Given the description of an element on the screen output the (x, y) to click on. 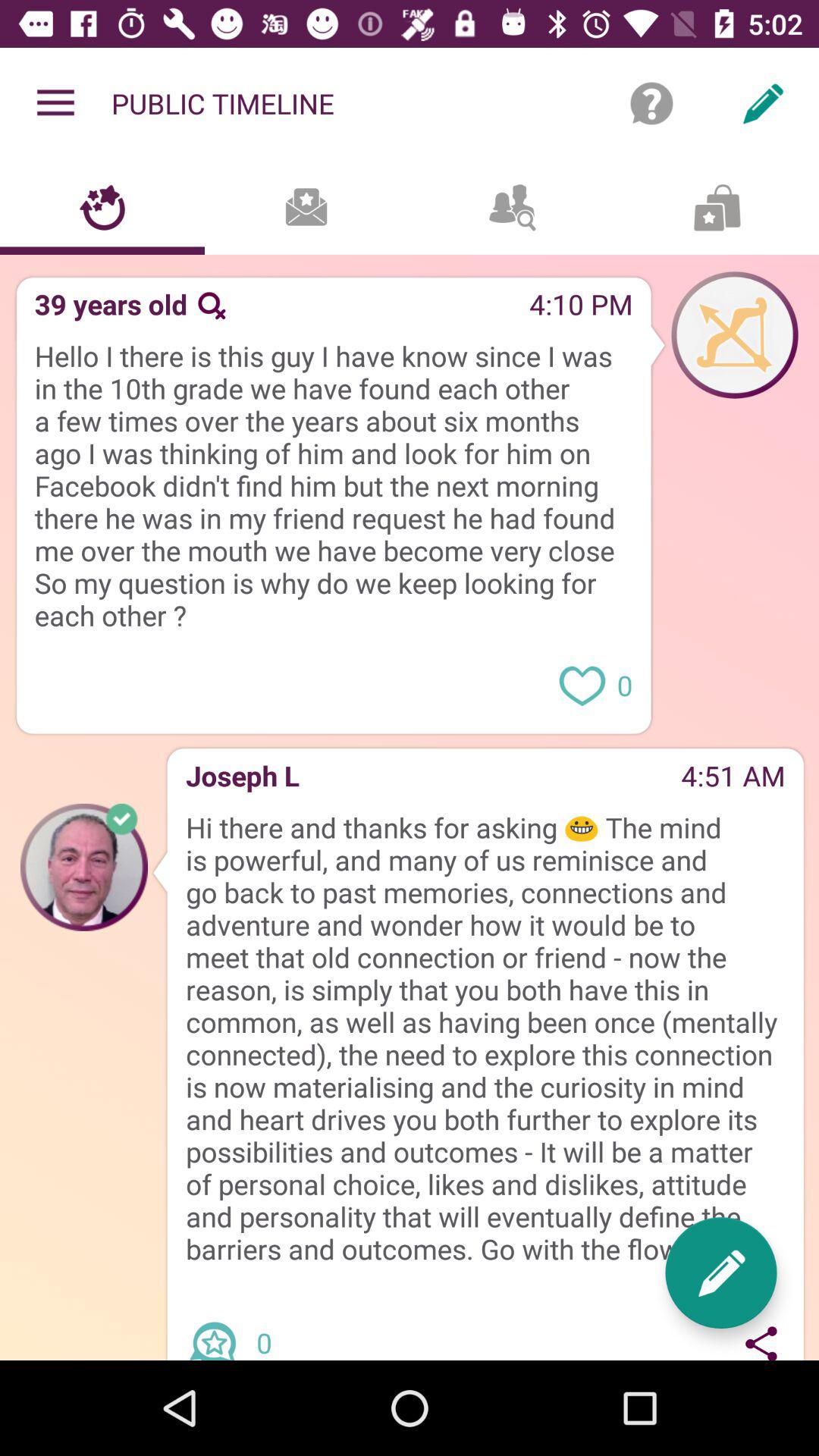
press the item next to joseph l item (490, 780)
